Given the description of an element on the screen output the (x, y) to click on. 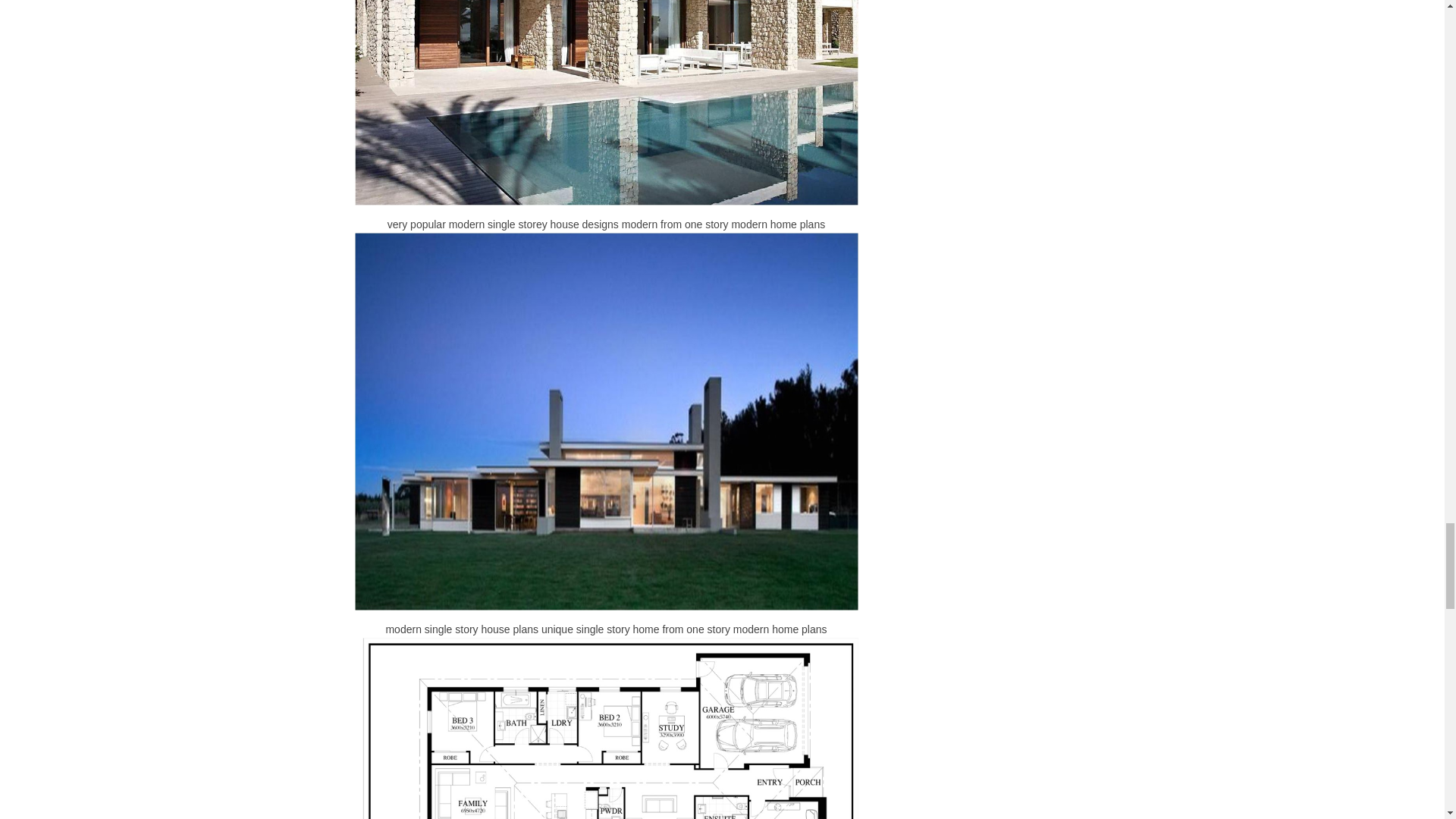
very popular modern single storey house designs modern (607, 102)
single story modern architecture modern single story house (607, 728)
